Given the description of an element on the screen output the (x, y) to click on. 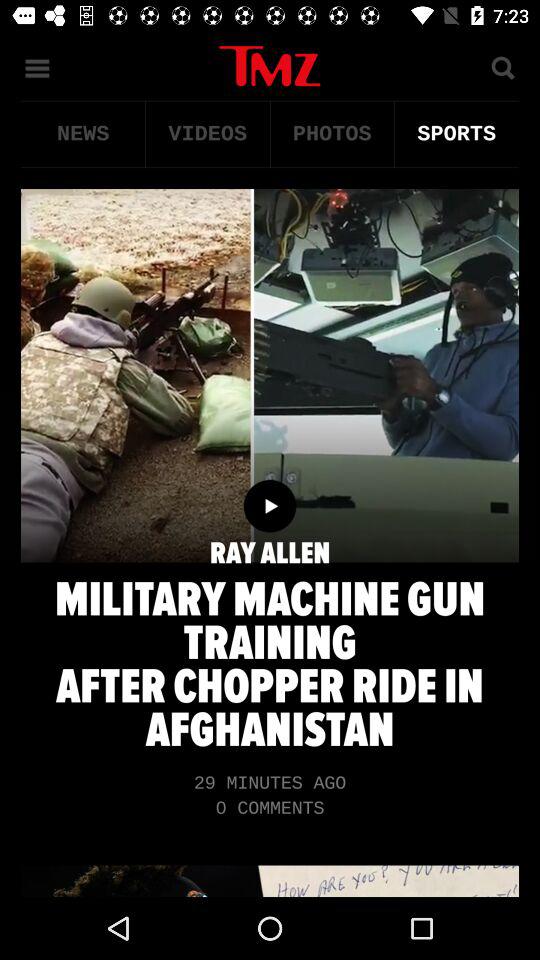
tap videos icon (207, 133)
